Given the description of an element on the screen output the (x, y) to click on. 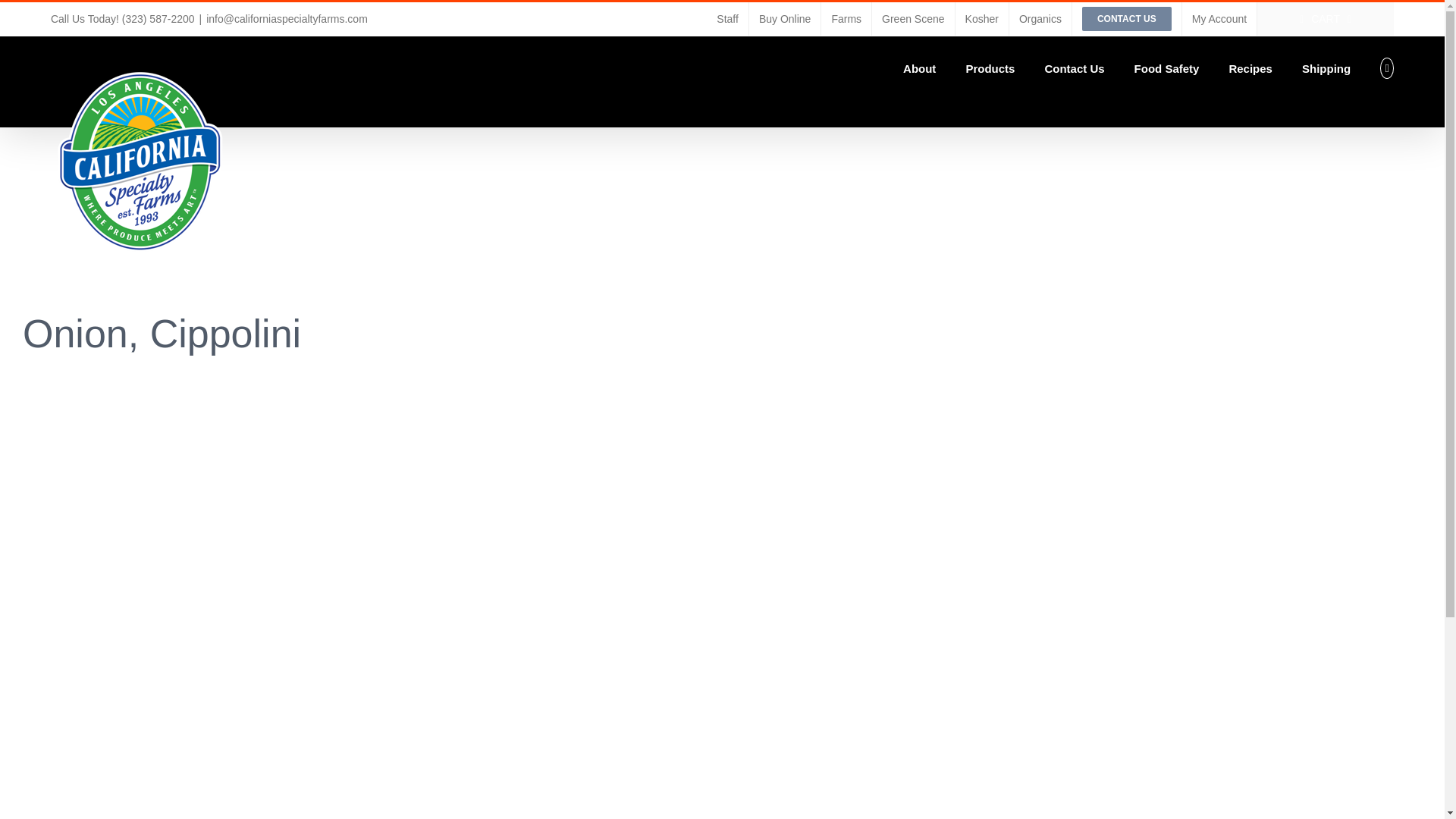
Green Scene (913, 19)
Food Safety (1166, 67)
Staff (727, 19)
Buy Online (785, 19)
CONTACT US (1125, 19)
My Account (1219, 19)
CART (1325, 19)
Farms (845, 19)
Log In (1270, 170)
Kosher (982, 19)
Contact Us (1073, 67)
Organics (1040, 19)
